Given the description of an element on the screen output the (x, y) to click on. 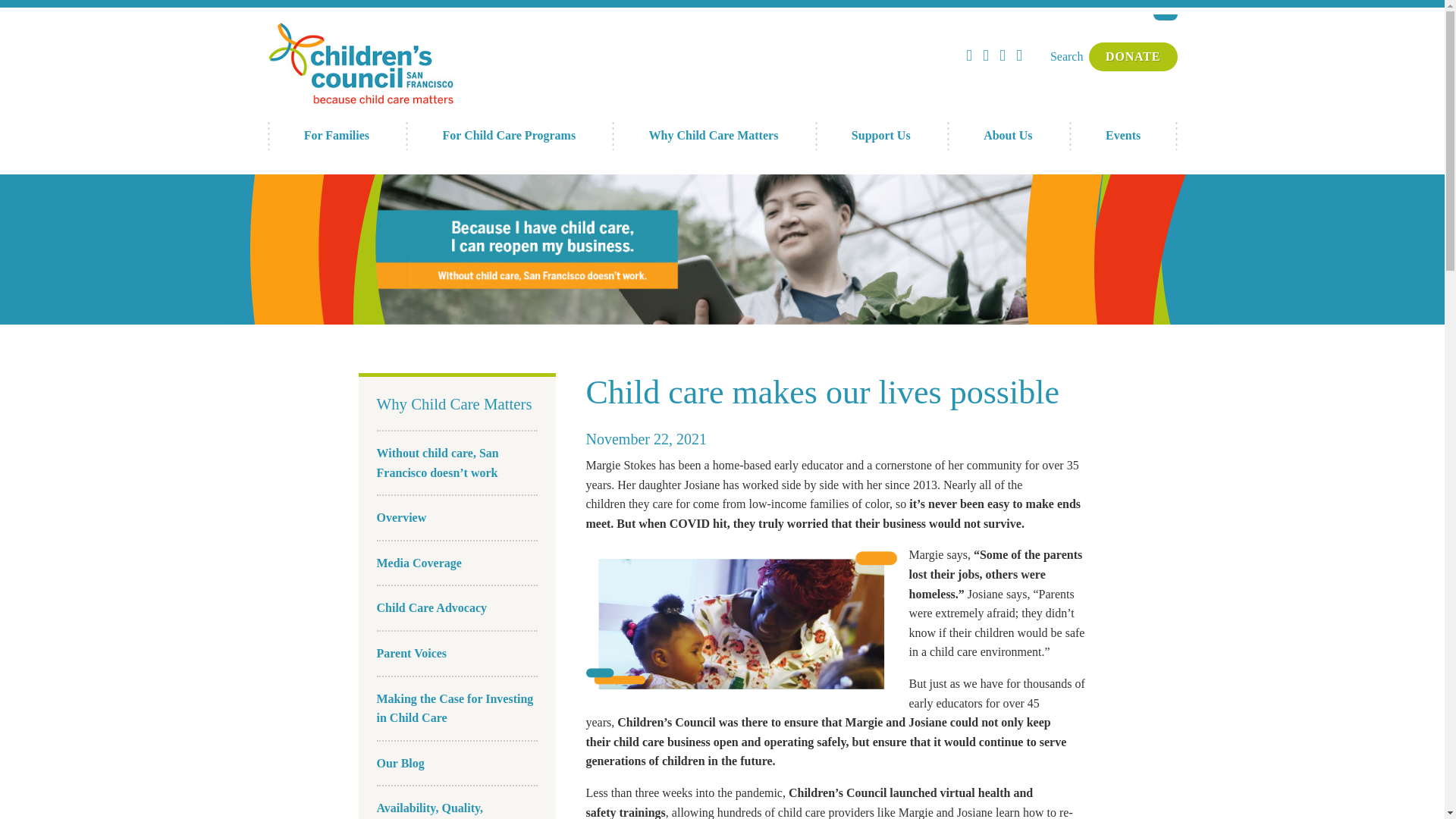
DONATE (1133, 56)
Opens a widget where you can find more information (1360, 792)
Search (1066, 56)
For Families (336, 135)
For Child Care Programs (508, 135)
